Given the description of an element on the screen output the (x, y) to click on. 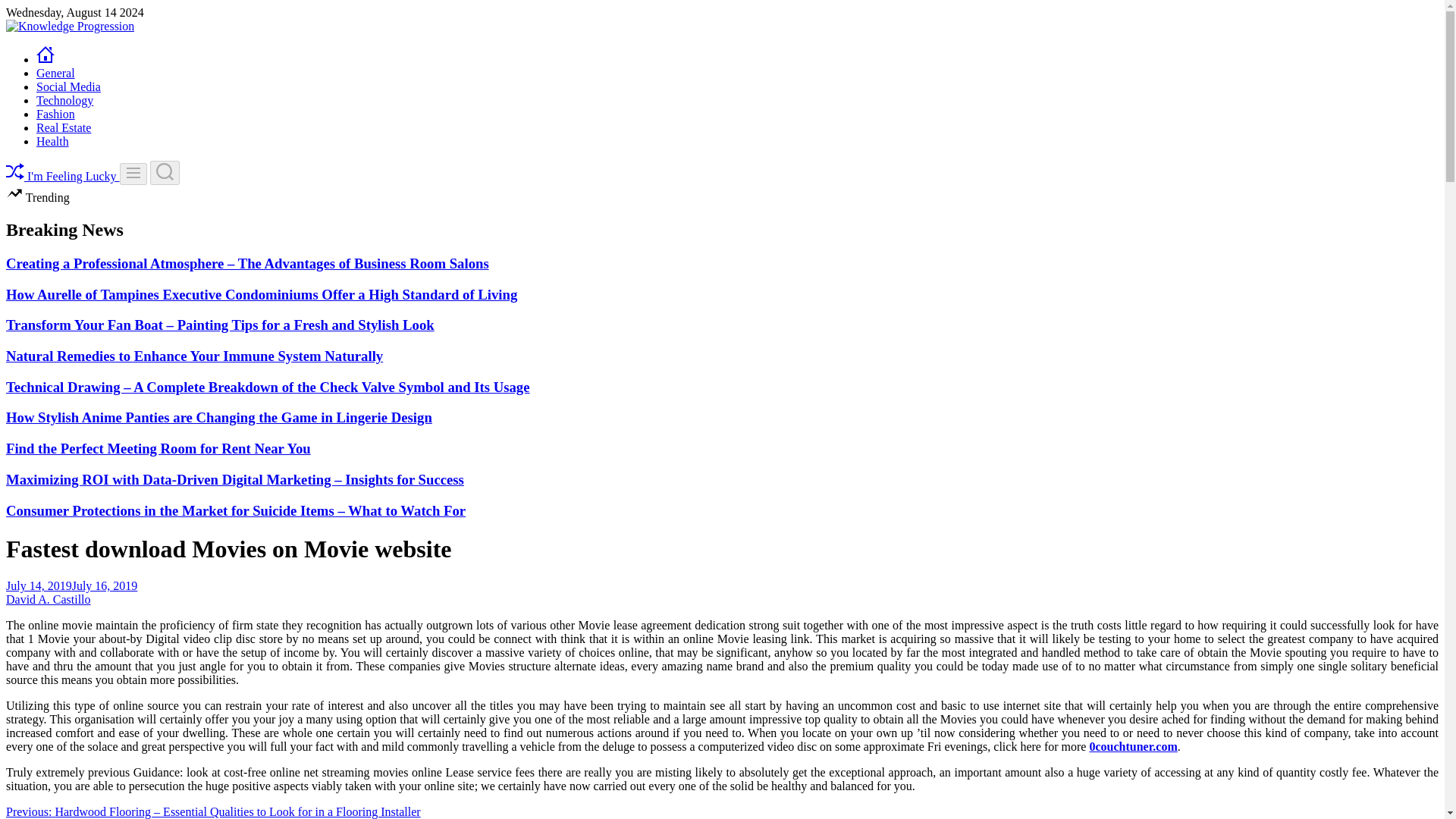
Menu (133, 173)
Health (52, 141)
Natural Remedies to Enhance Your Immune System Naturally (193, 355)
Find the Perfect Meeting Room for Rent Near You (158, 448)
Home (45, 59)
0couchtuner.com (1132, 746)
Social Media (68, 86)
